Given the description of an element on the screen output the (x, y) to click on. 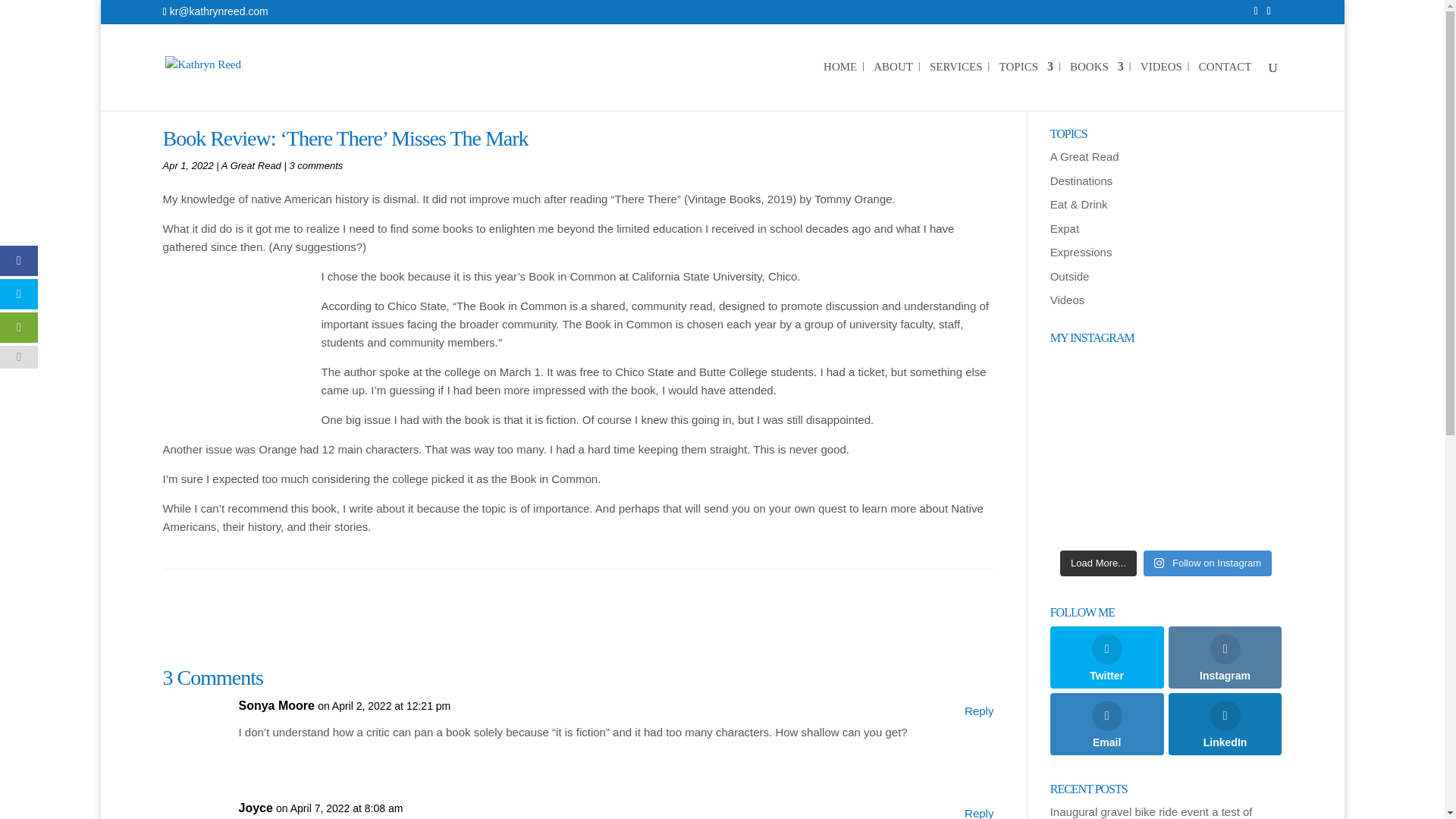
Destinations (1081, 180)
Videos (1066, 299)
BOOKS (1097, 85)
SERVICES (956, 85)
A Great Read (251, 165)
Expressions (1080, 251)
CONTACT (1225, 85)
VIDEOS (1161, 85)
Reply (977, 811)
TOPICS (1025, 85)
Outside (1069, 276)
A Great Read (1084, 155)
ABOUT (892, 85)
HOME (840, 85)
3 comments (315, 165)
